Given the description of an element on the screen output the (x, y) to click on. 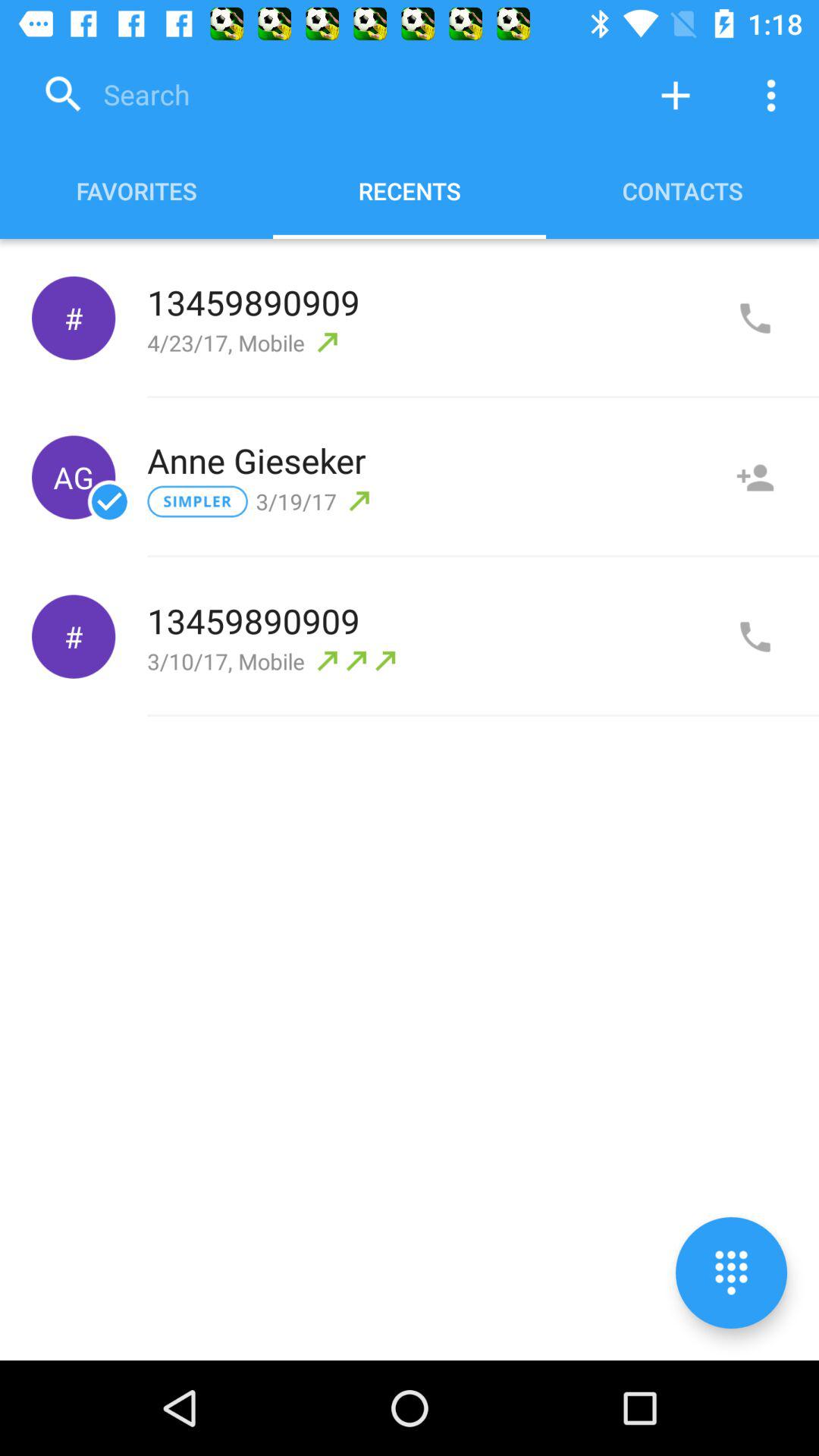
create new contact (675, 95)
